Given the description of an element on the screen output the (x, y) to click on. 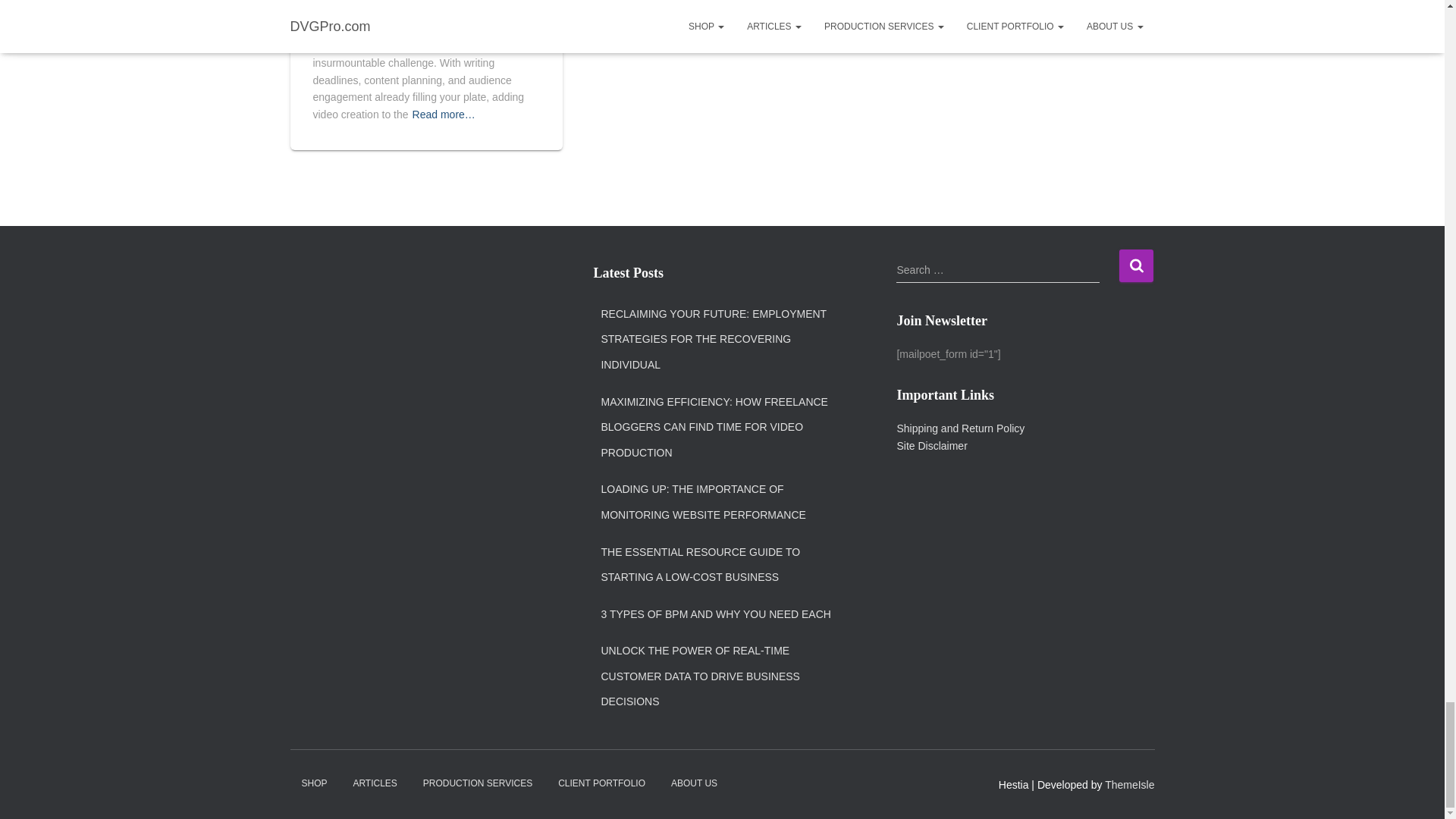
Search (1136, 265)
Search (1136, 265)
